Given the description of an element on the screen output the (x, y) to click on. 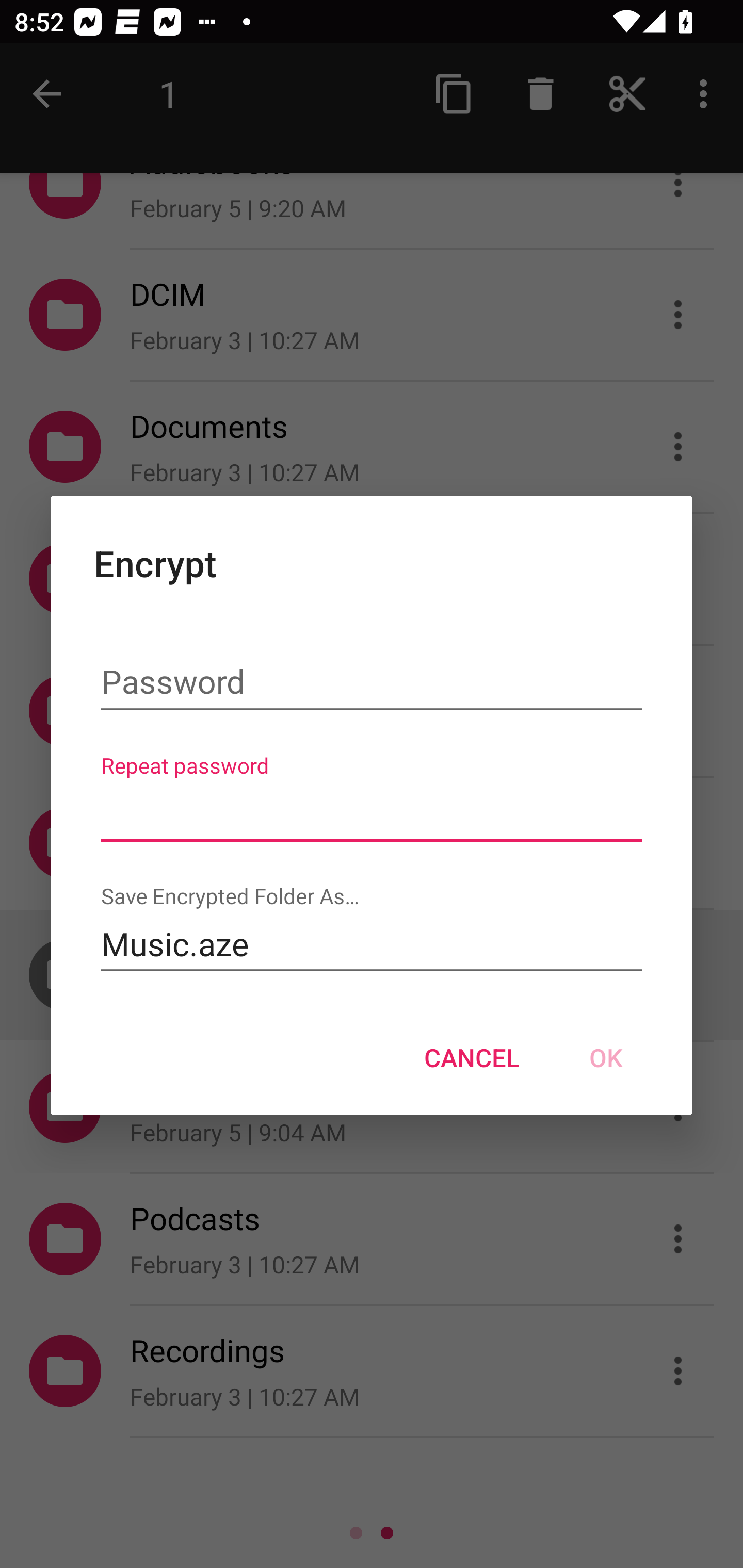
Password (371, 683)
Repeat password (371, 813)
Music.aze (371, 943)
CANCEL (470, 1057)
OK (605, 1057)
